Given the description of an element on the screen output the (x, y) to click on. 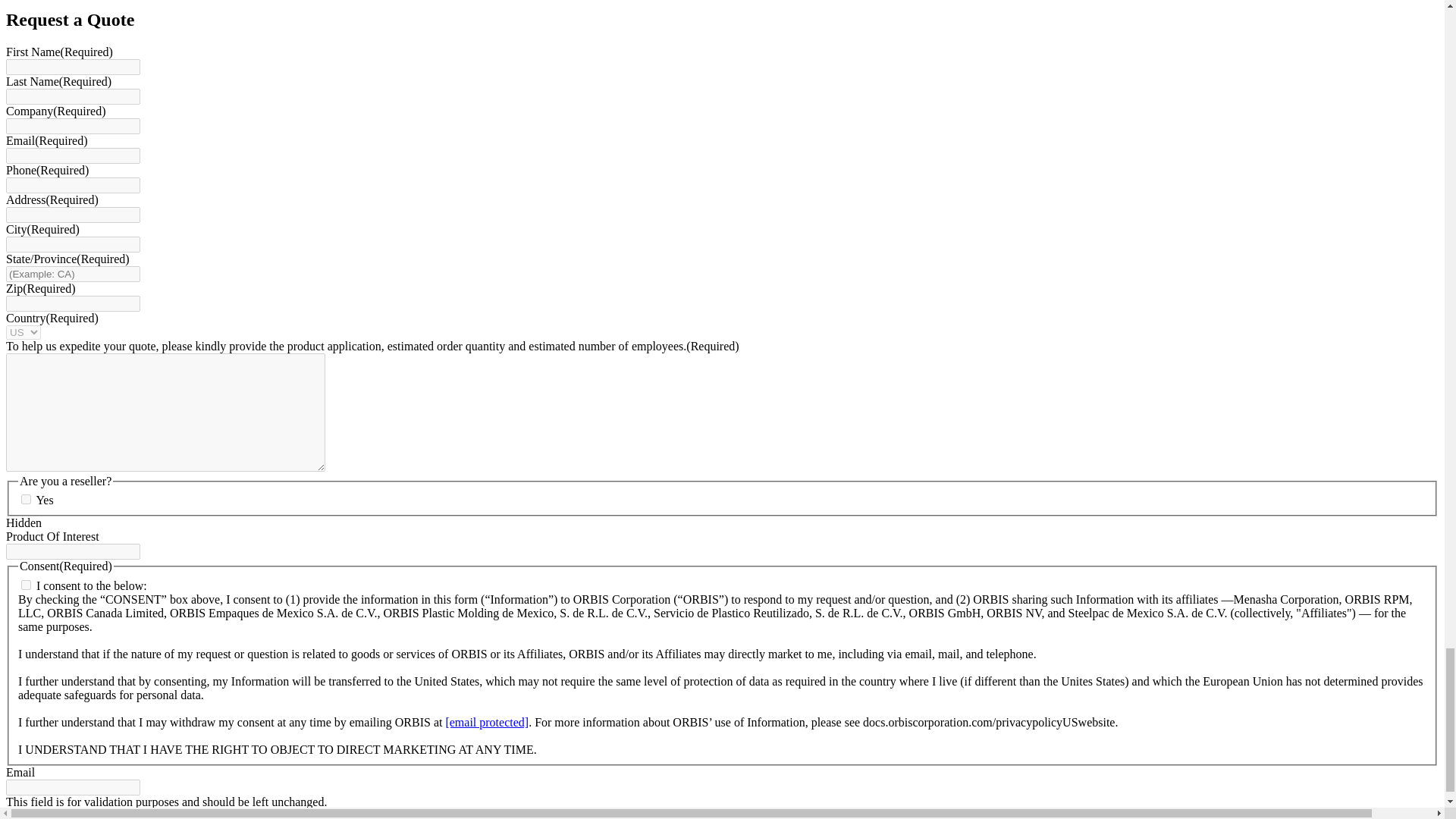
Yes (25, 499)
1 (25, 584)
